Given the description of an element on the screen output the (x, y) to click on. 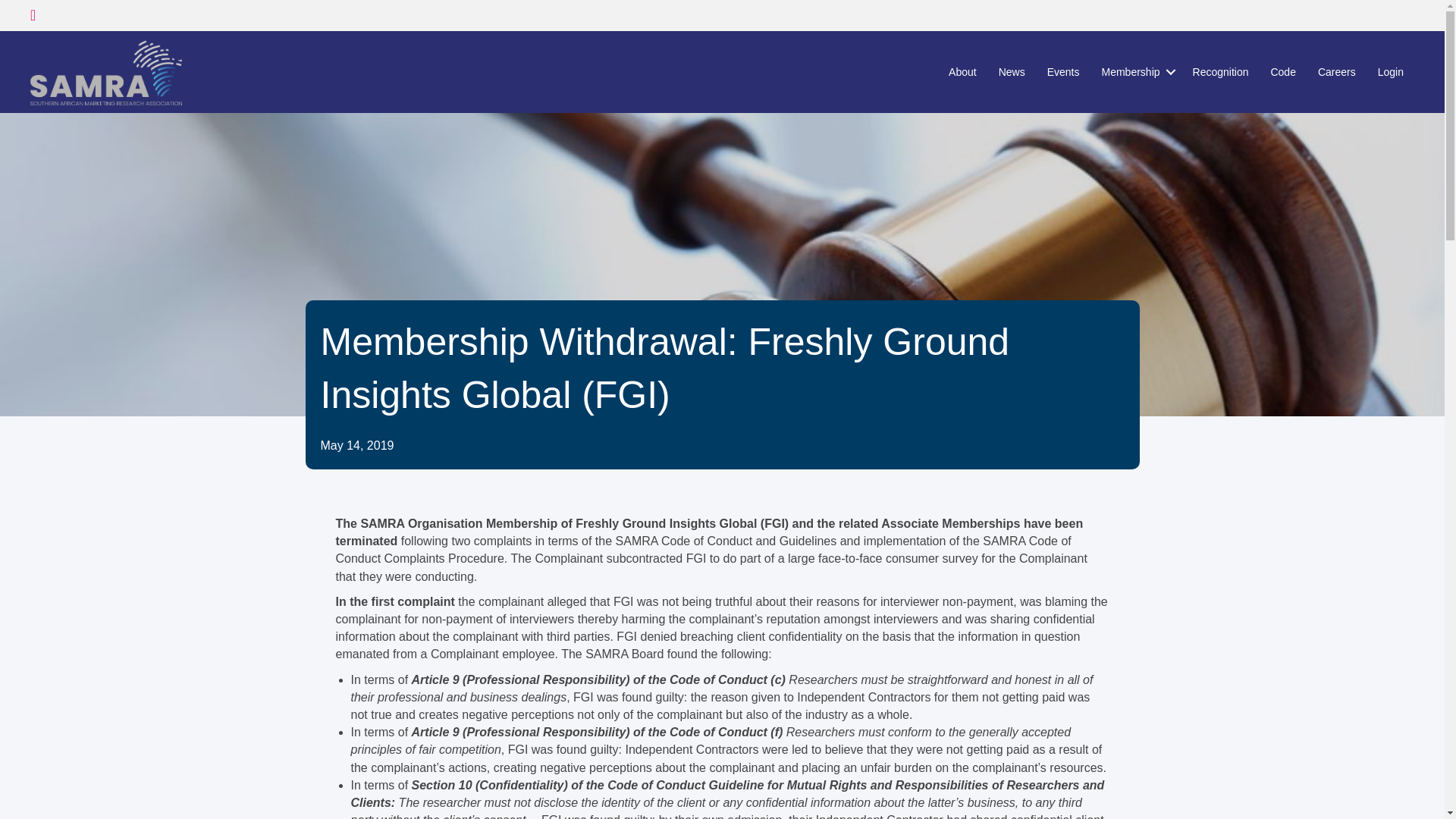
About (962, 71)
Code (1282, 71)
Login (1390, 71)
Recognition (1220, 71)
Careers (1337, 71)
Events (1063, 71)
News (1011, 71)
Membership (1135, 71)
